Given the description of an element on the screen output the (x, y) to click on. 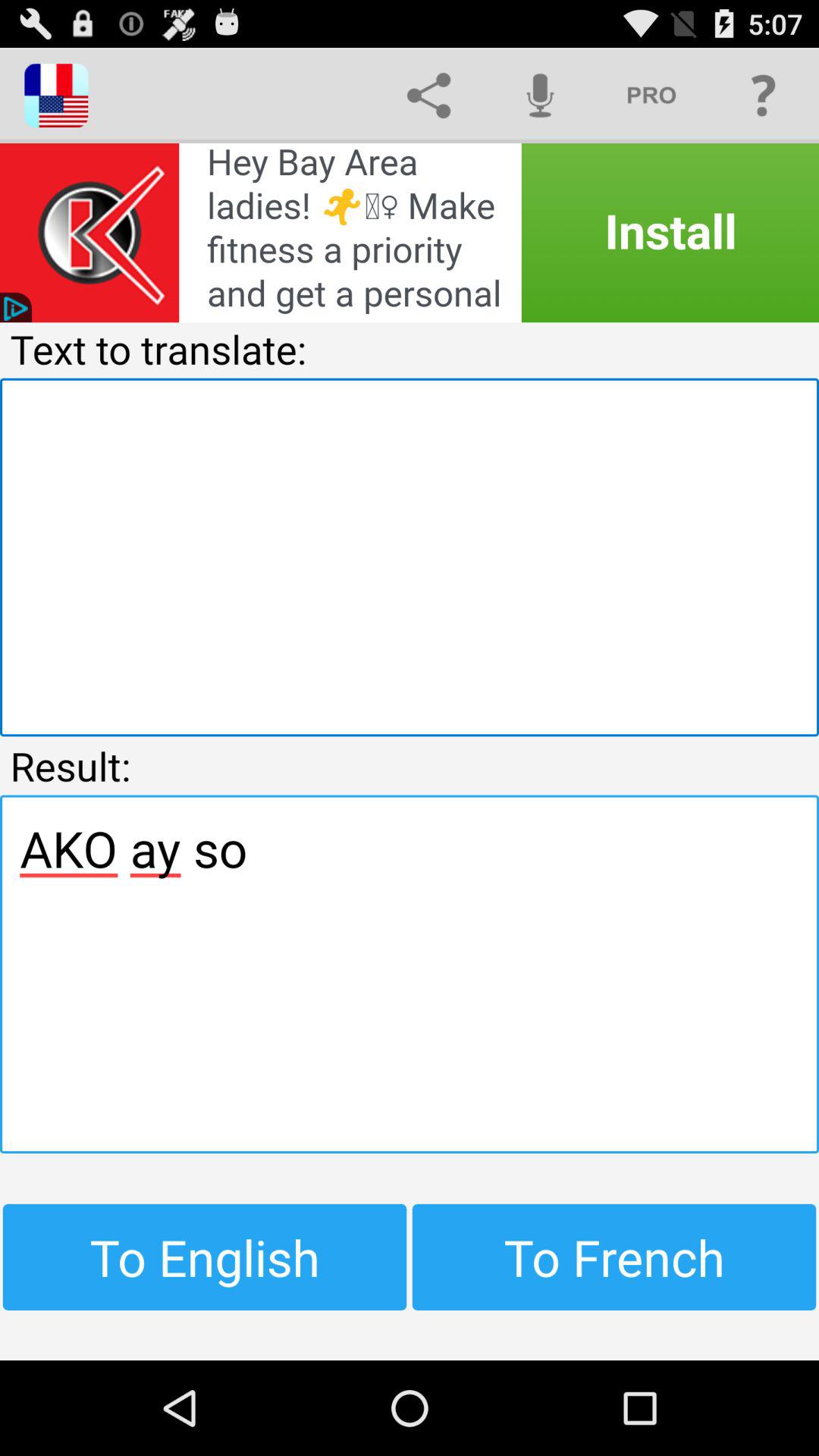
scroll until to french item (614, 1257)
